Given the description of an element on the screen output the (x, y) to click on. 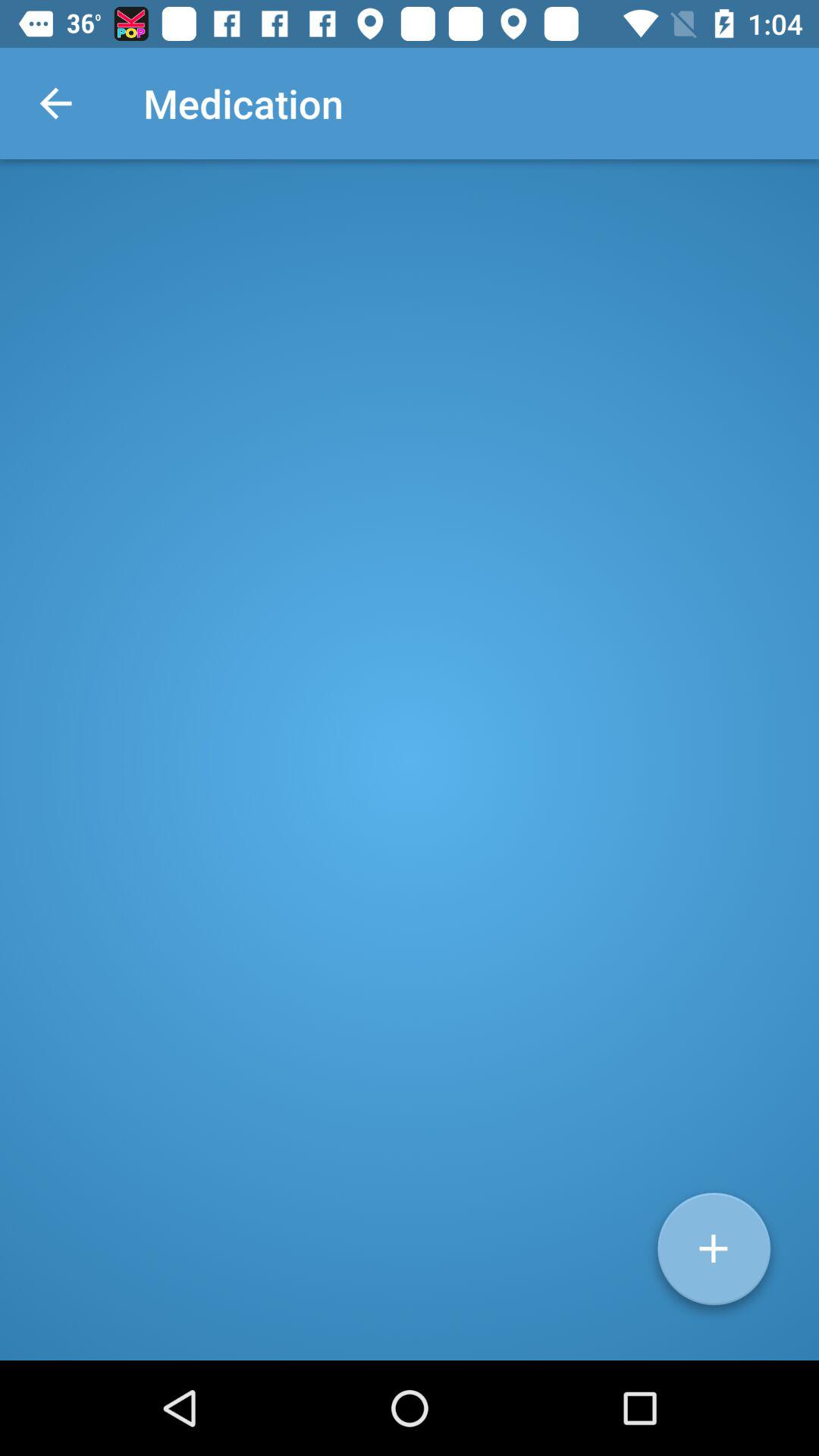
click icon to the left of the medication (55, 103)
